Given the description of an element on the screen output the (x, y) to click on. 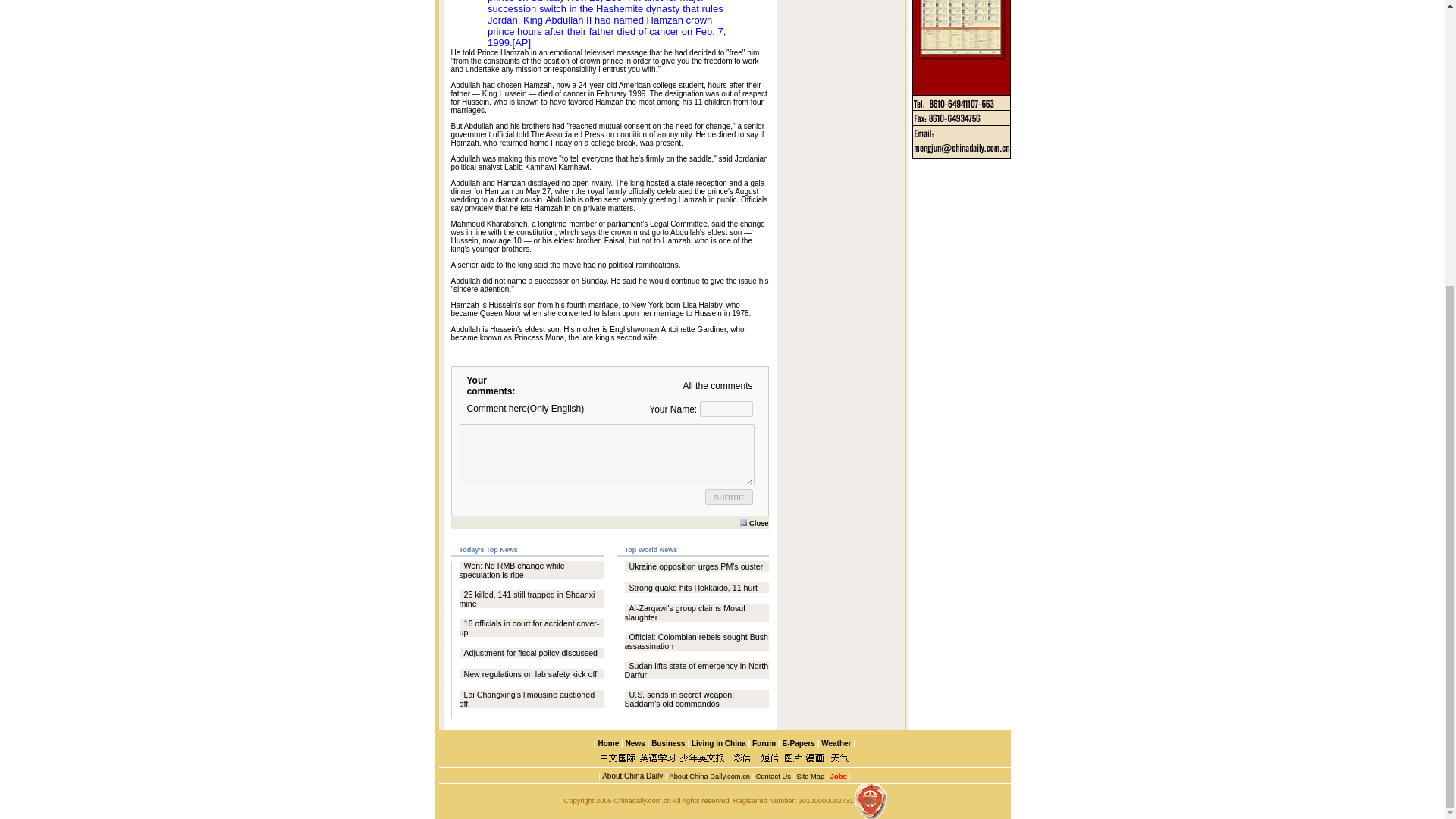
E-Papers (797, 743)
Contact Us (772, 776)
Site Map (810, 776)
Weather (834, 743)
Adjustment for fiscal policy discussed (531, 652)
About China Daily (630, 775)
20100000002731 (825, 800)
Jobs (836, 776)
Official: Colombian rebels sought Bush assassination (696, 641)
News (635, 743)
